Given the description of an element on the screen output the (x, y) to click on. 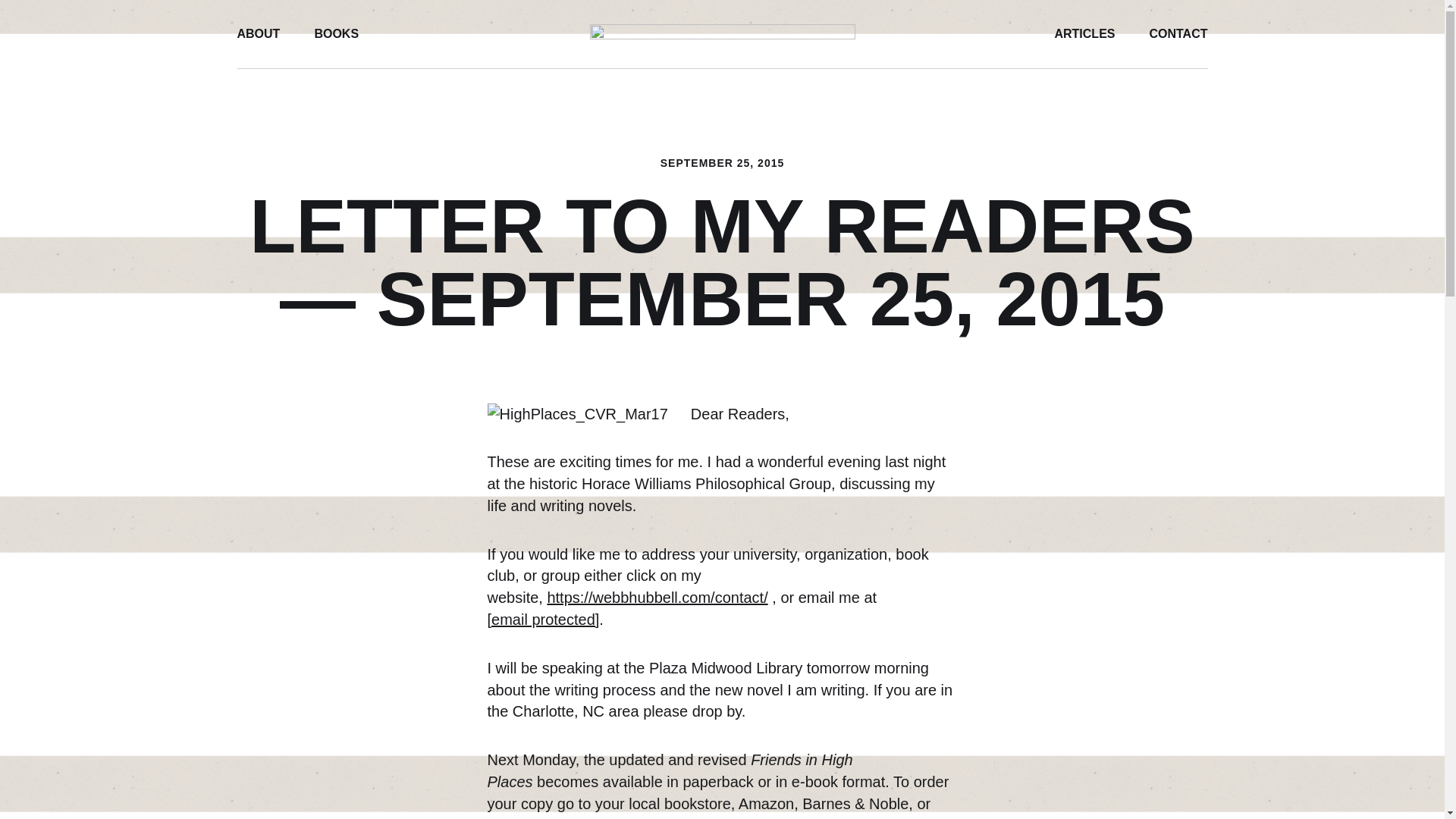
ARTICLES (1084, 33)
BOOKS (336, 33)
ABOUT (257, 33)
CONTACT (1177, 33)
